Given the description of an element on the screen output the (x, y) to click on. 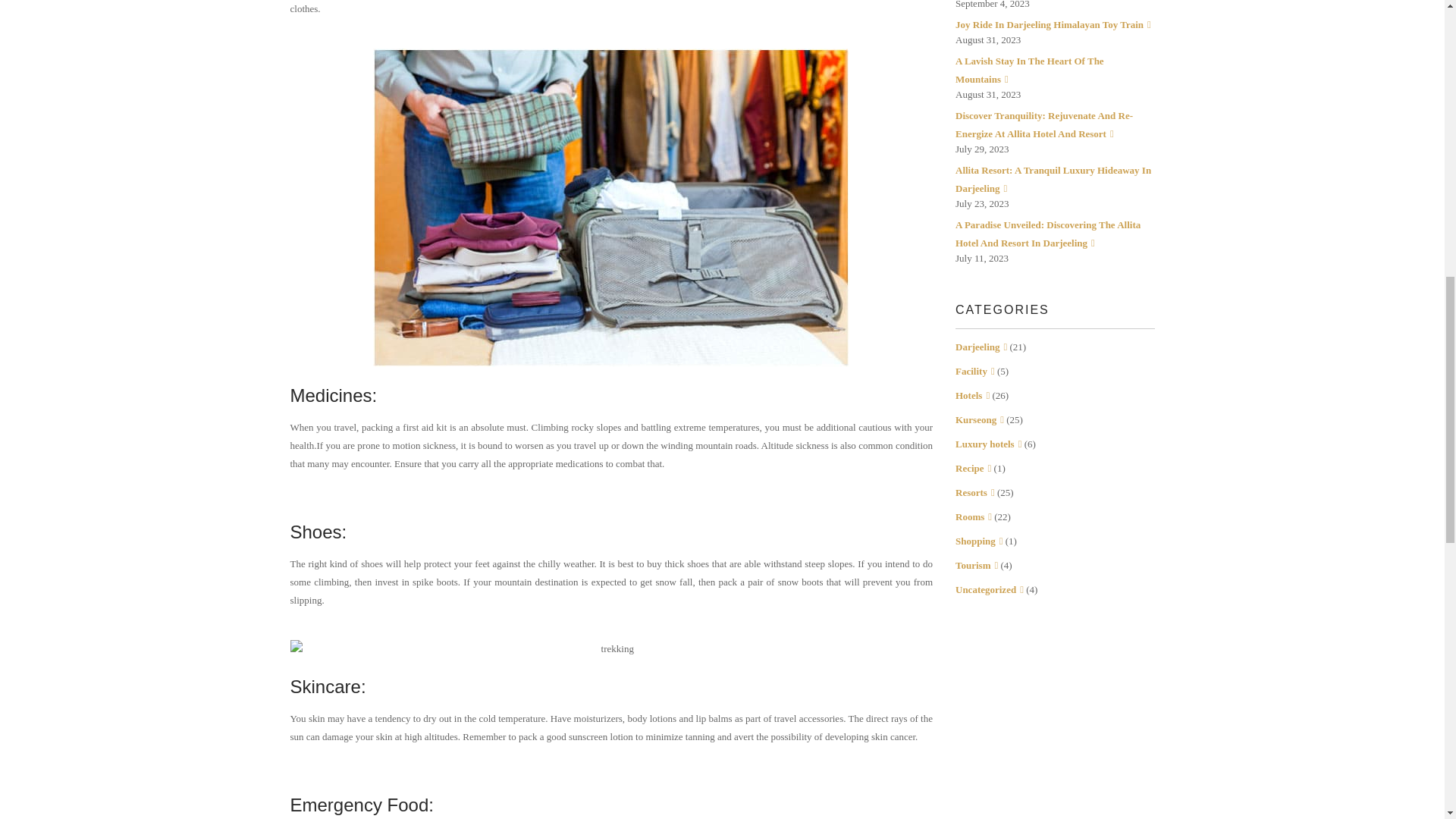
A Lavish Stay In The Heart Of The Mountains (1029, 70)
Hotels (972, 395)
Joy Ride In Darjeeling Himalayan Toy Train (1053, 24)
Darjeeling (981, 346)
Allita Resort: A Tranquil Luxury Hideaway In Darjeeling (1053, 179)
Facility (974, 370)
